Given the description of an element on the screen output the (x, y) to click on. 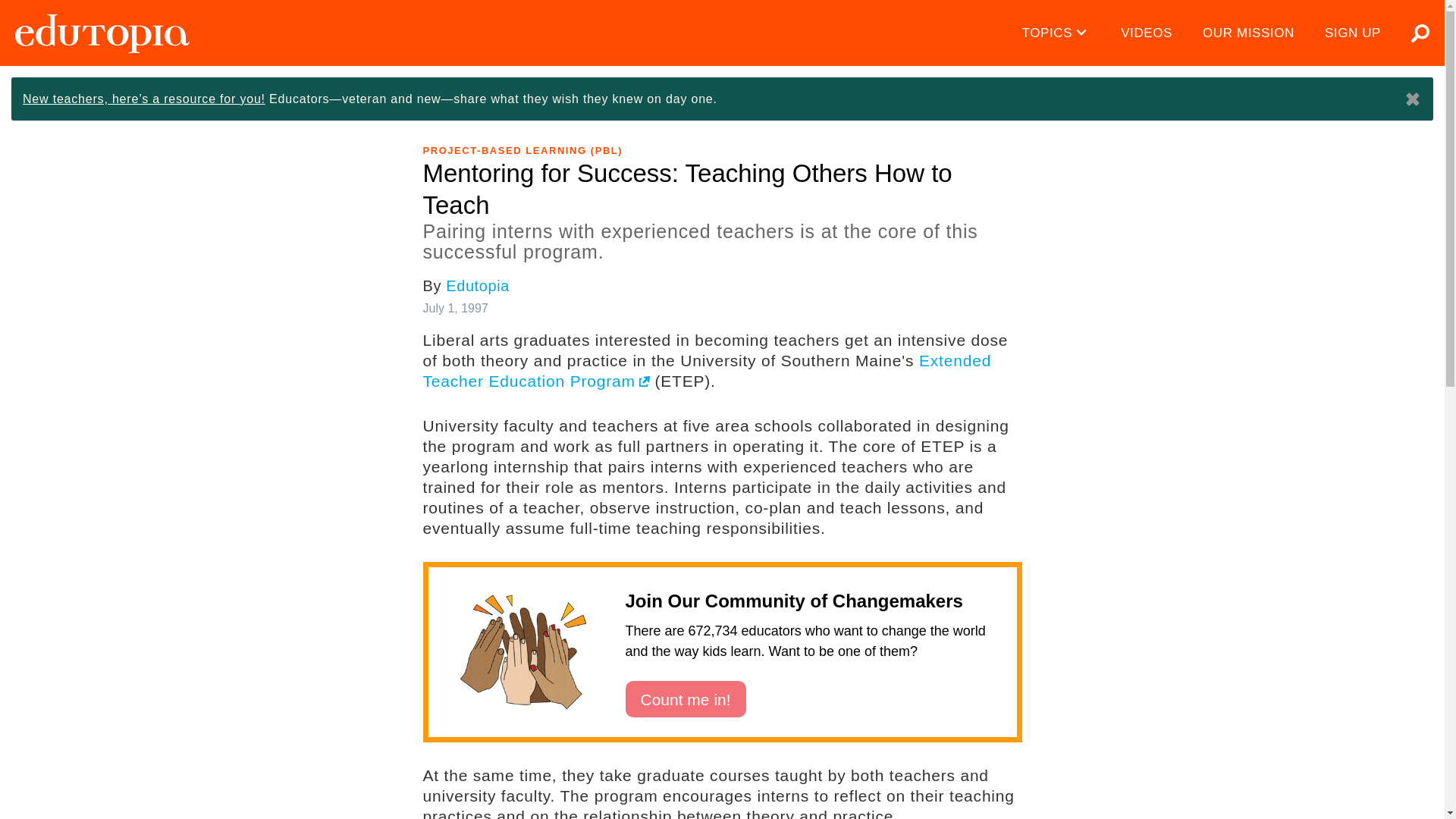
Extended Teacher Education Program (697, 305)
TOPICS (1056, 33)
Edutopia (101, 33)
VIDEOS (1146, 33)
Edutopia (477, 219)
Edutopia (101, 33)
SIGN UP (1352, 33)
OUR MISSION (1248, 33)
